Given the description of an element on the screen output the (x, y) to click on. 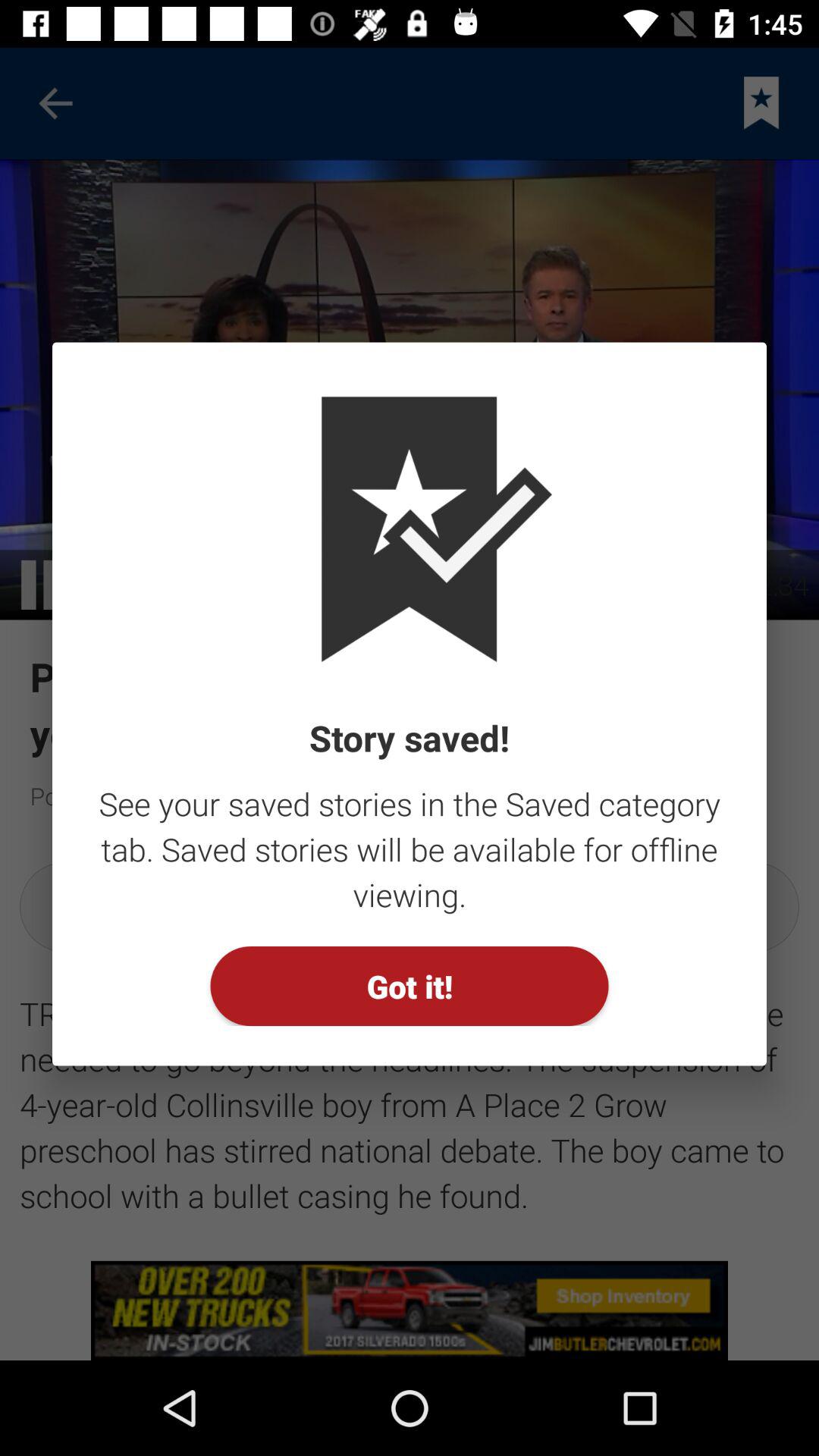
select the button at the bottom (409, 986)
